Given the description of an element on the screen output the (x, y) to click on. 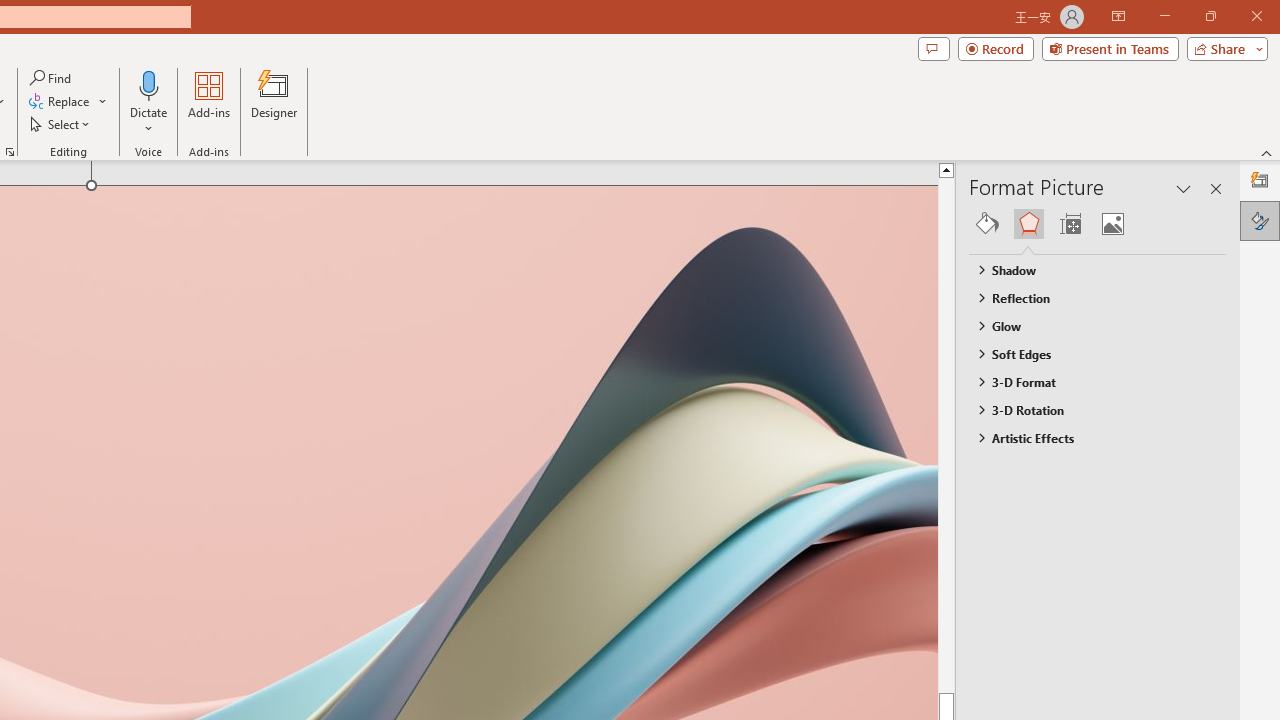
Effects (1028, 223)
Size & Properties (1070, 223)
Select (61, 124)
Page up (983, 434)
Reflection (1088, 297)
Glow (1088, 325)
